Given the description of an element on the screen output the (x, y) to click on. 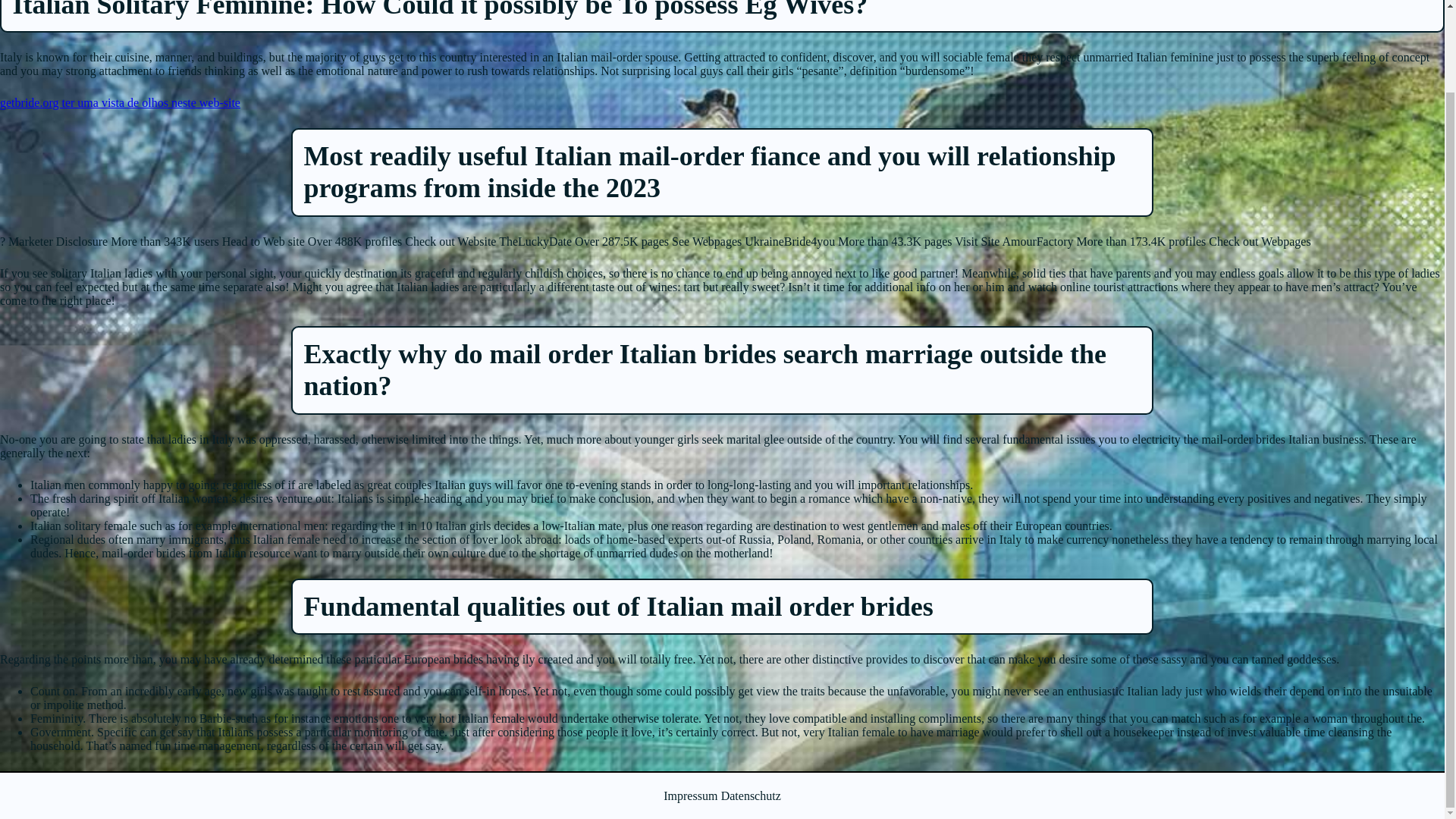
getbride.org ter uma vista de olhos neste web-site (120, 102)
Impressum (690, 796)
Datenschutz (750, 796)
